Given the description of an element on the screen output the (x, y) to click on. 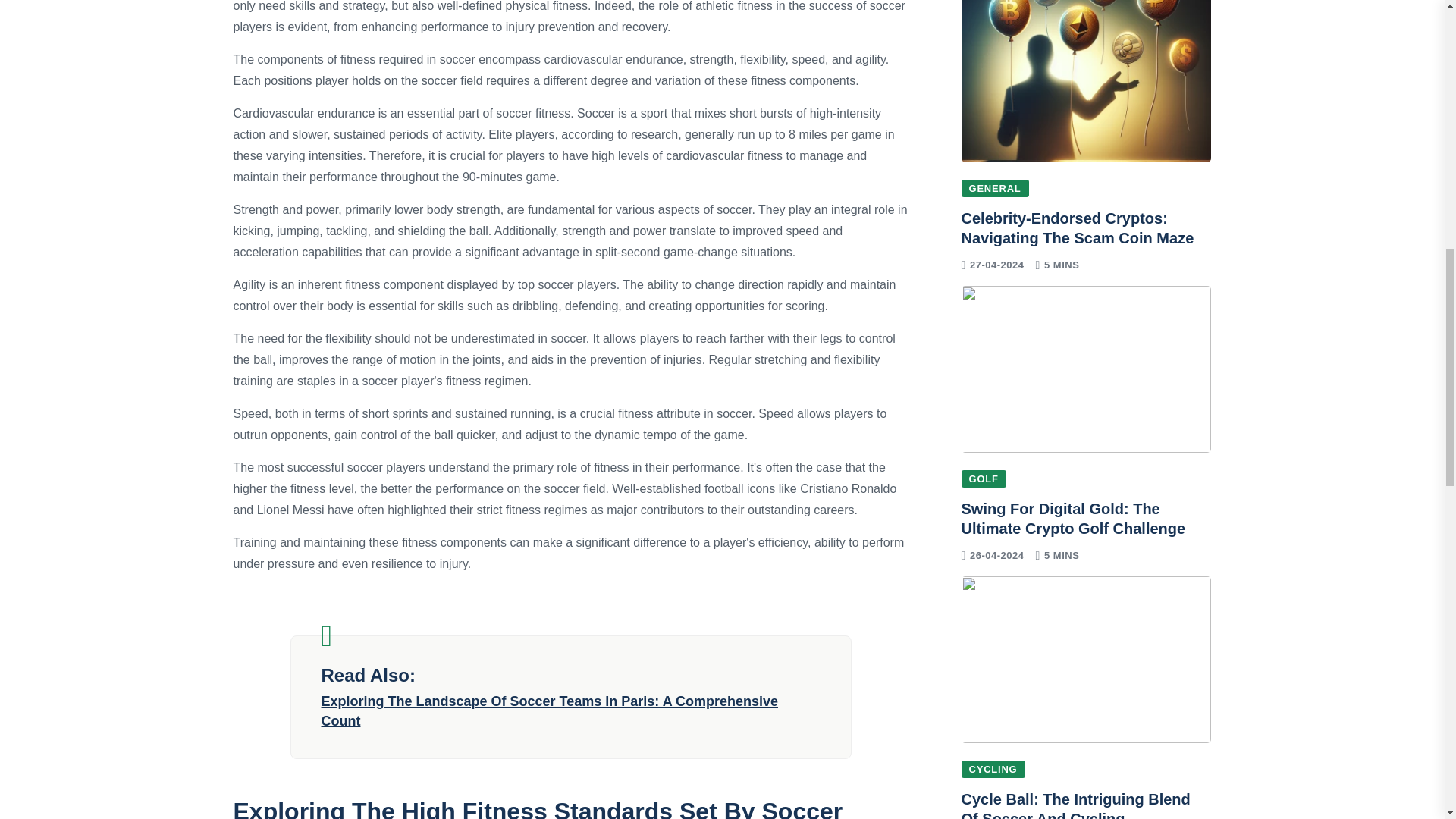
GENERAL (994, 188)
Celebrity-Endorsed Cryptos: Navigating The Scam Coin Maze (1076, 227)
GOLF (983, 478)
Swing For Digital Gold: The Ultimate Crypto Golf Challenge (1073, 518)
